Given the description of an element on the screen output the (x, y) to click on. 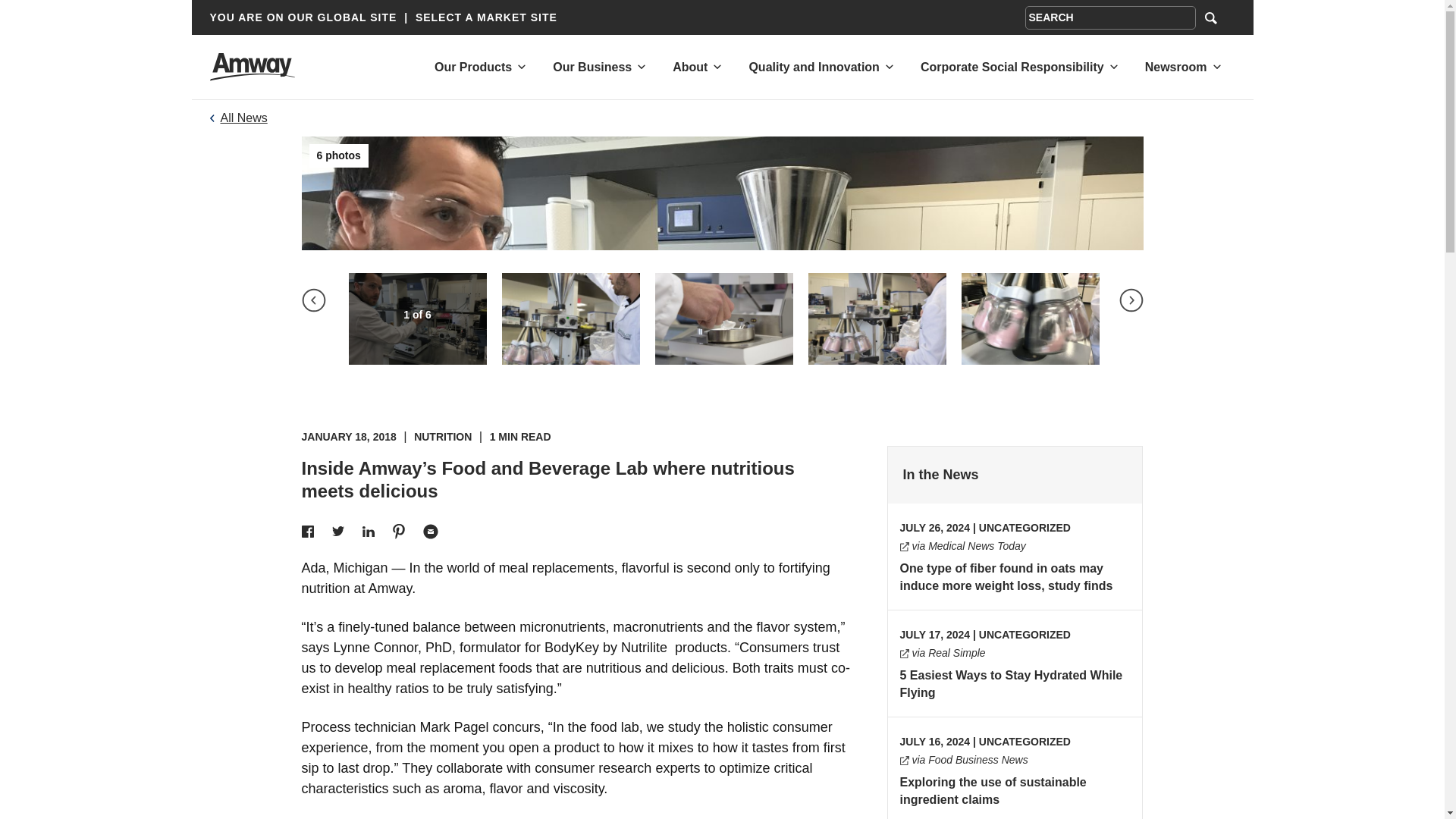
Our Business (592, 67)
All News (242, 117)
Our Products (472, 67)
About (689, 67)
Quality and Innovation (813, 67)
